Given the description of an element on the screen output the (x, y) to click on. 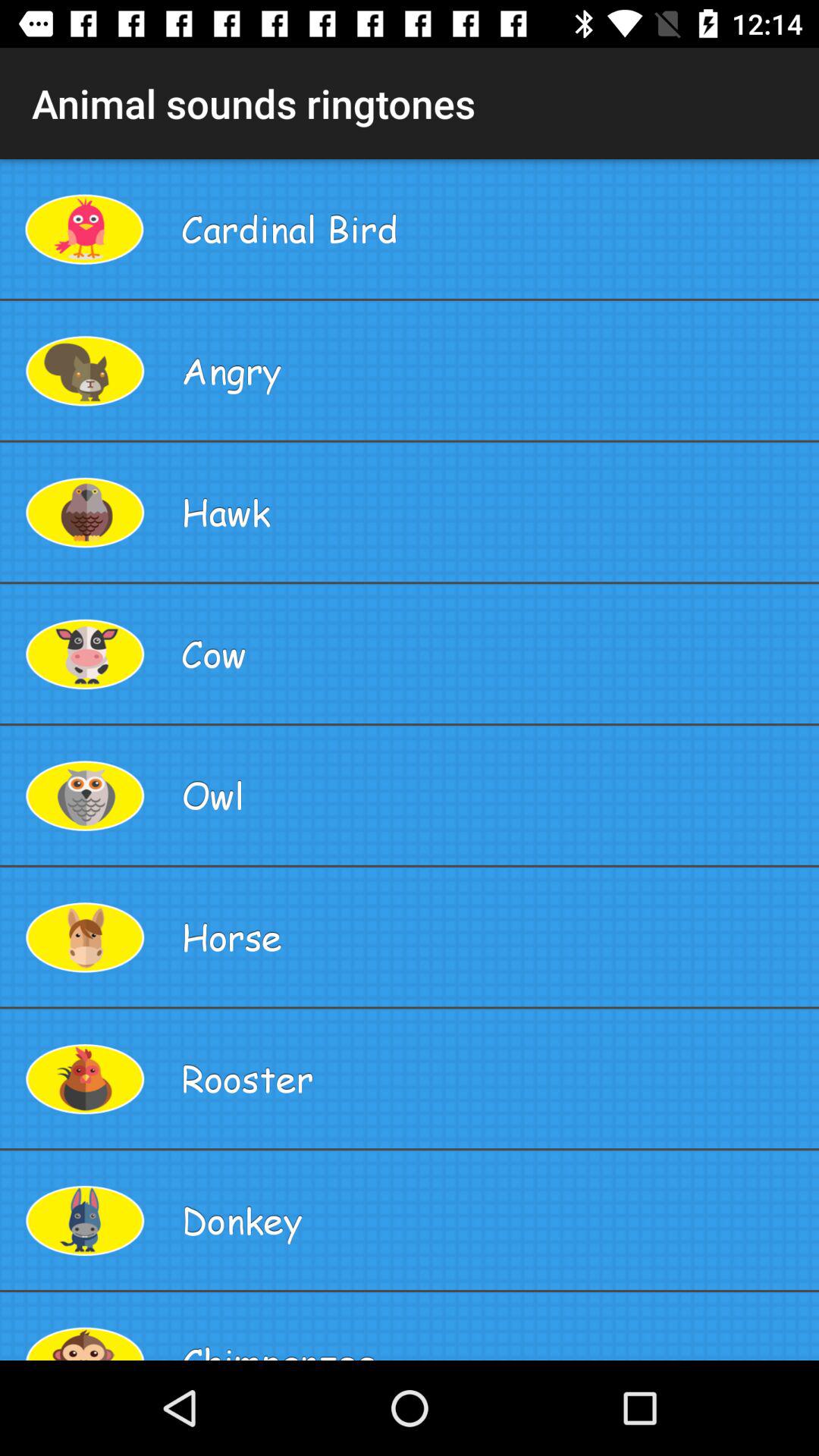
click the angry (494, 370)
